Given the description of an element on the screen output the (x, y) to click on. 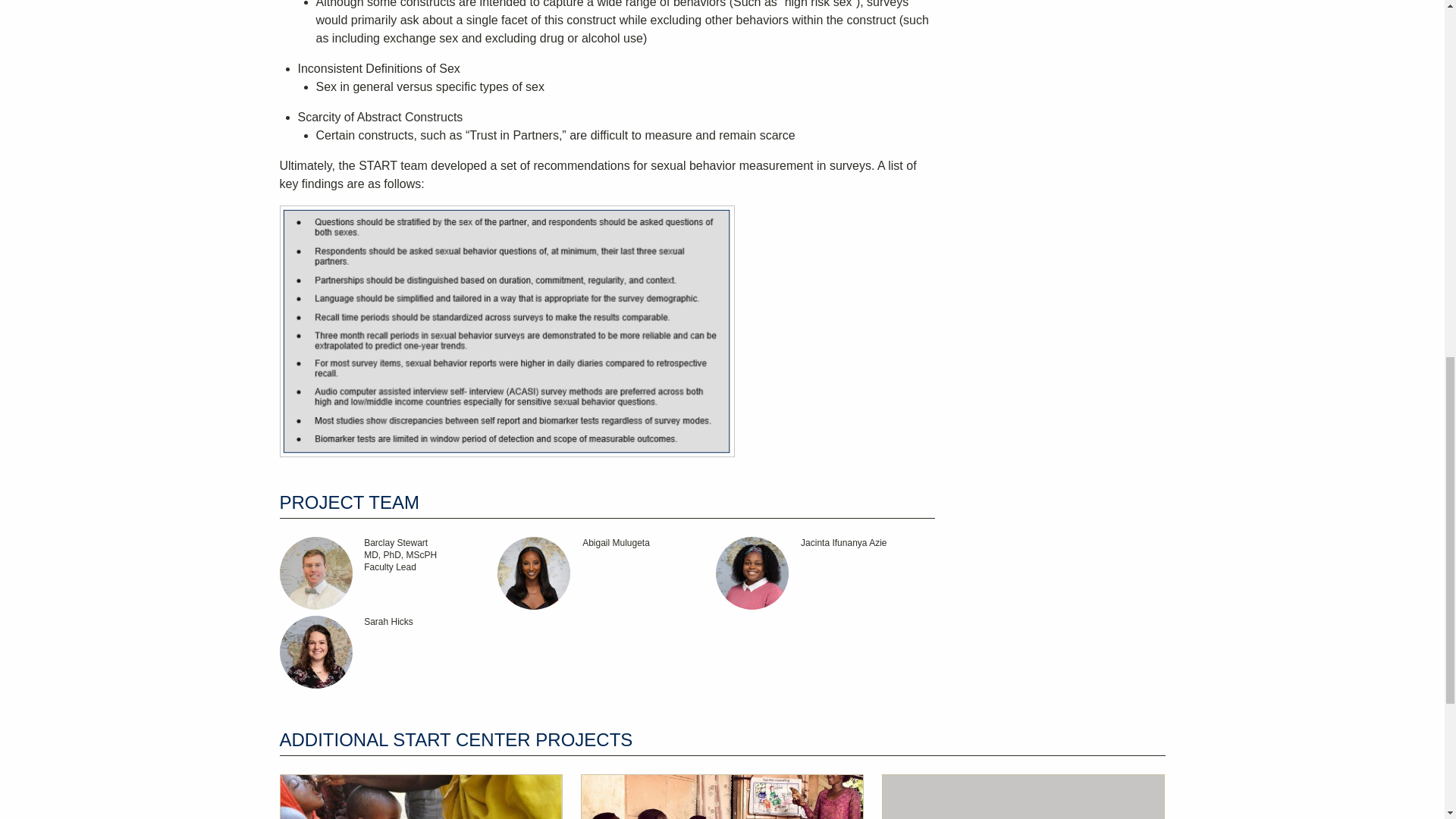
Abigail Mulugeta (606, 573)
Jacinta Ifunanya Azie (825, 573)
Sarah Hicks (388, 651)
